Given the description of an element on the screen output the (x, y) to click on. 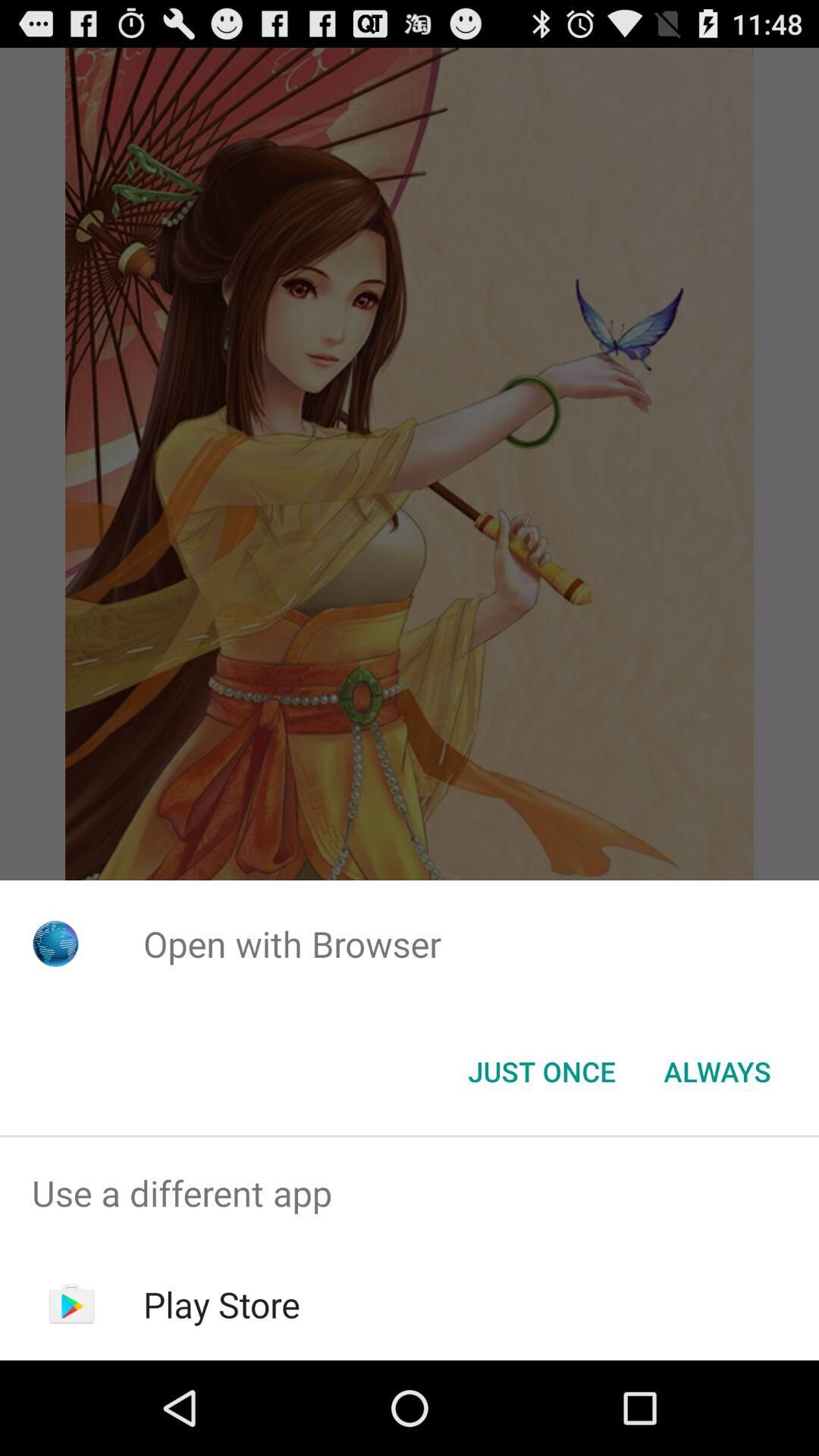
turn on icon below the open with browser (541, 1071)
